Given the description of an element on the screen output the (x, y) to click on. 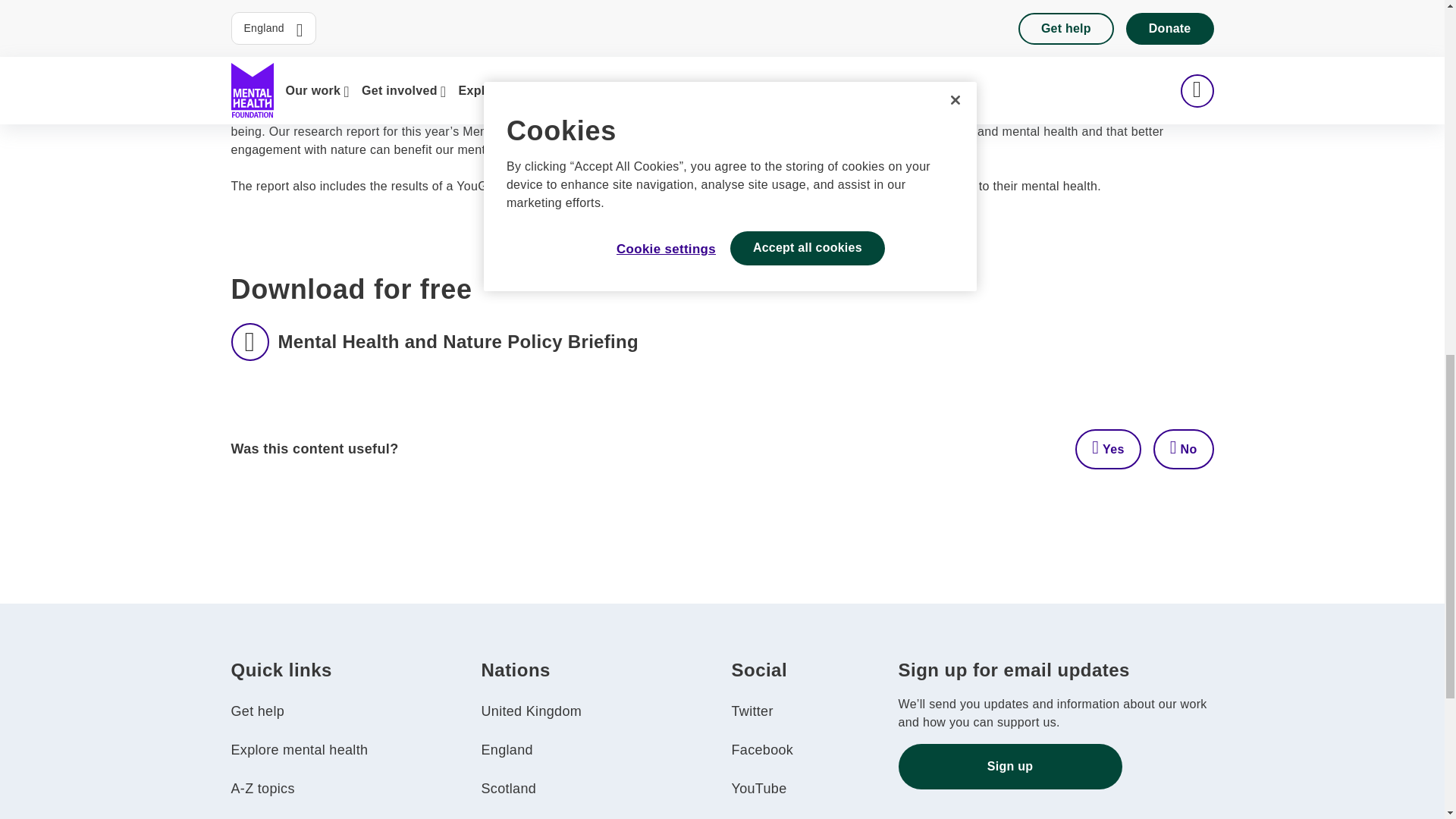
Twitter (751, 711)
Mental Health and Nature Policy Briefing (434, 341)
YouTube (758, 788)
Facebook (761, 749)
